Given the description of an element on the screen output the (x, y) to click on. 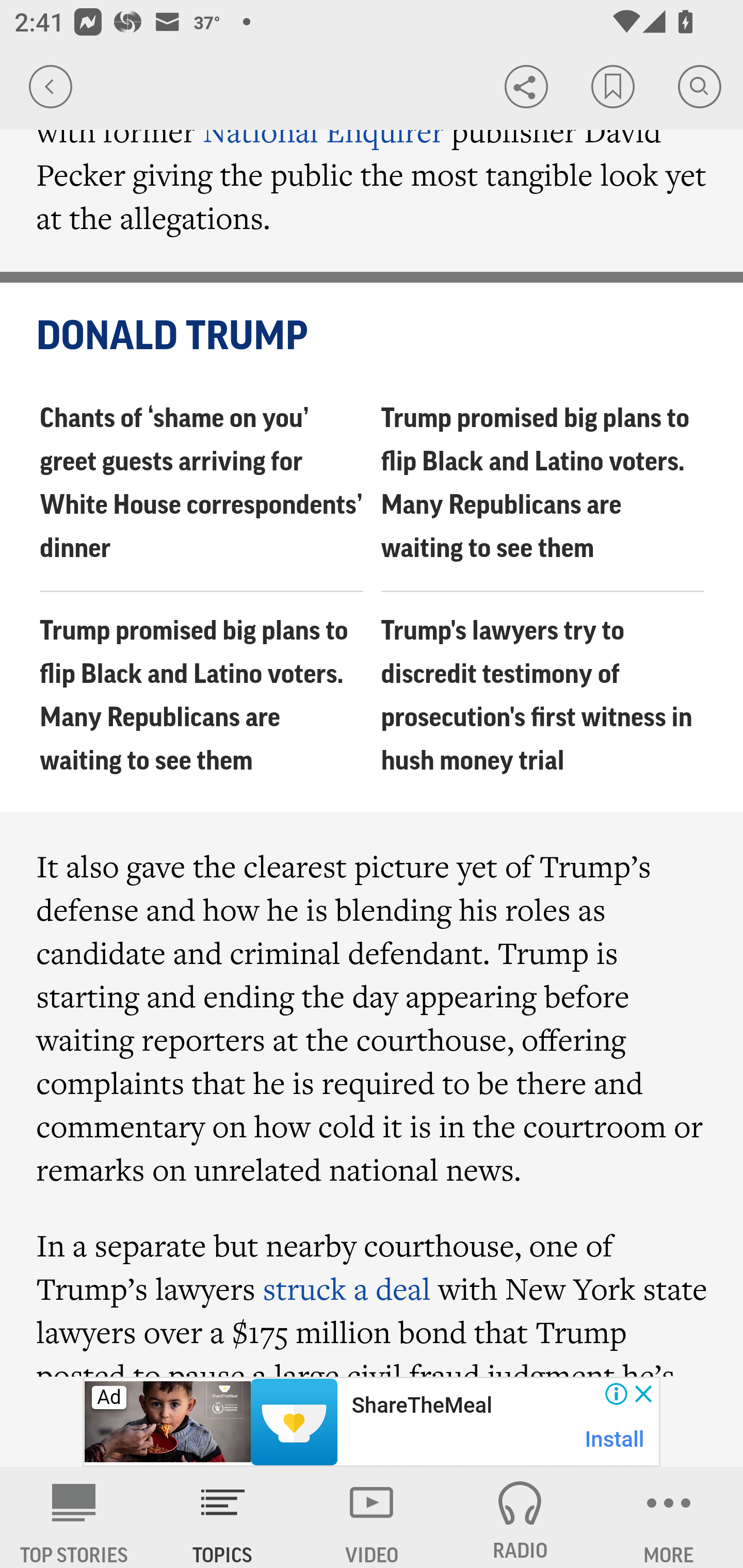
National Enquirer (323, 131)
DONALD TRUMP (372, 336)
struck a deal (346, 1288)
ShareTheMeal (420, 1405)
Install (614, 1438)
AP News TOP STORIES (74, 1517)
TOPICS (222, 1517)
VIDEO (371, 1517)
RADIO (519, 1517)
MORE (668, 1517)
